Given the description of an element on the screen output the (x, y) to click on. 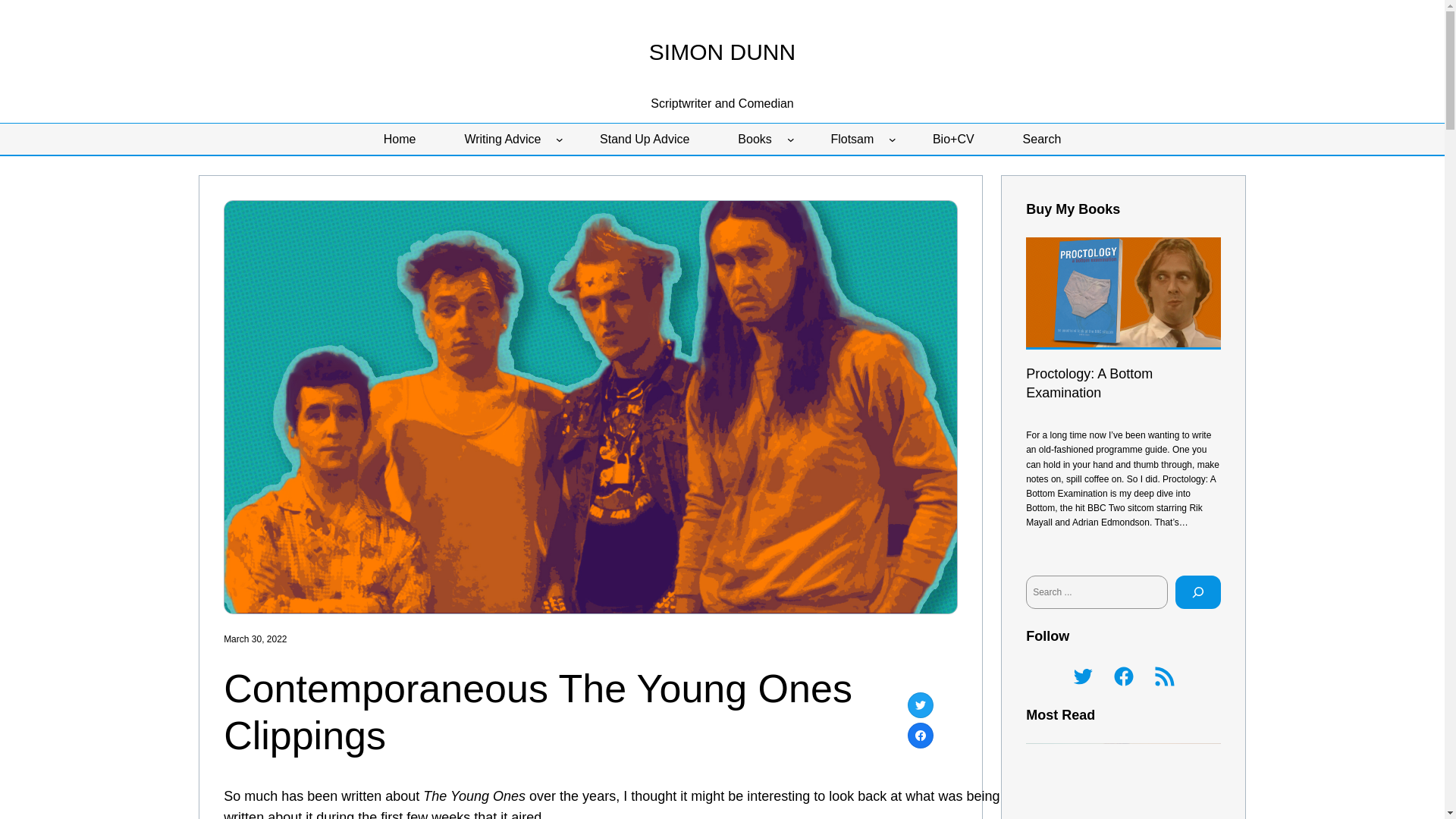
Home (399, 139)
SIMON DUNN (721, 51)
Books (754, 139)
Stand Up Advice (644, 139)
Writing Advice (502, 139)
Flotsam (851, 139)
Search (1042, 139)
